Given the description of an element on the screen output the (x, y) to click on. 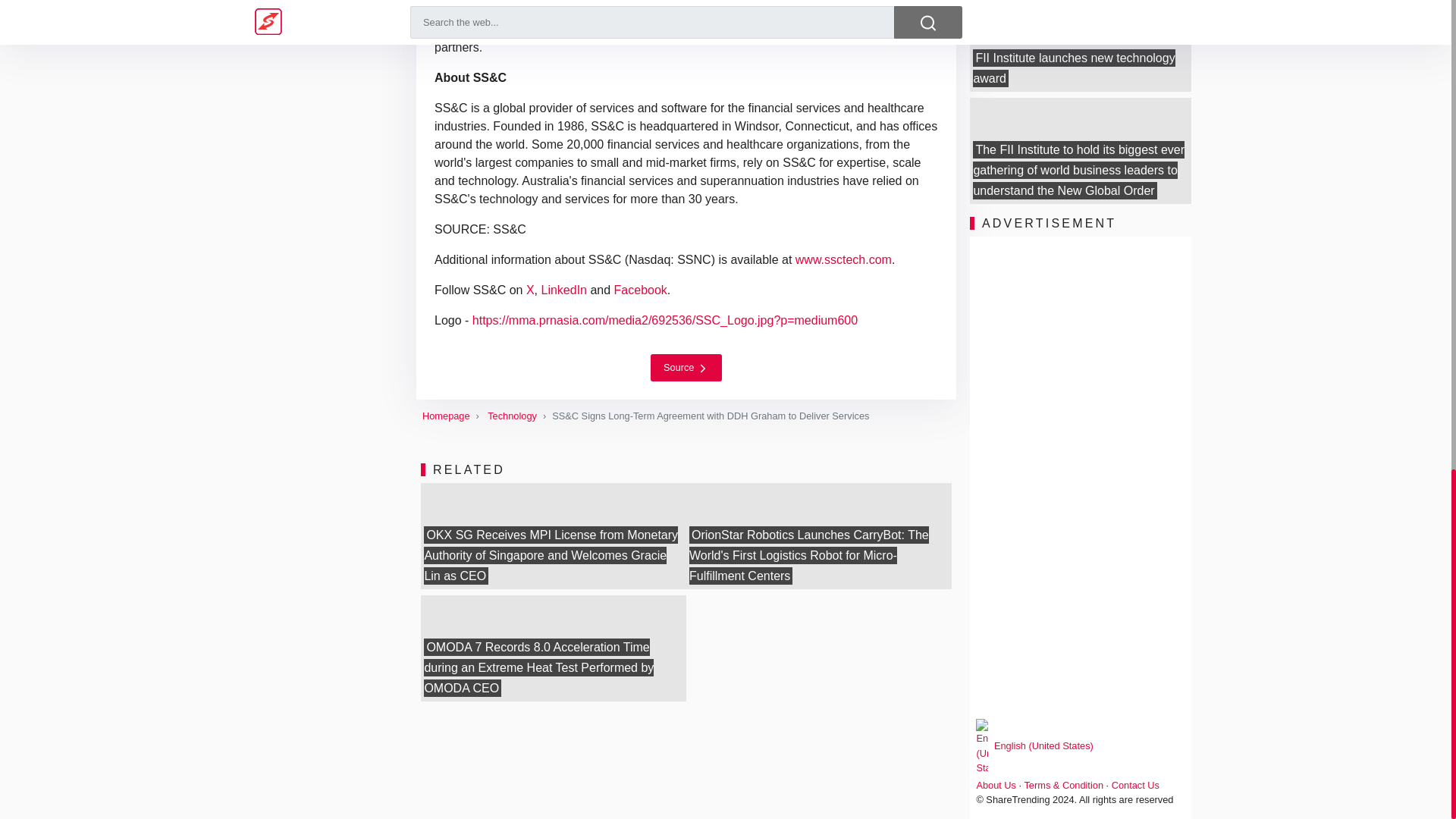
Facebook (640, 289)
www.ssctech.com (842, 259)
Source (686, 367)
Homepage (446, 415)
LinkedIn (564, 289)
Technology (512, 415)
